Given the description of an element on the screen output the (x, y) to click on. 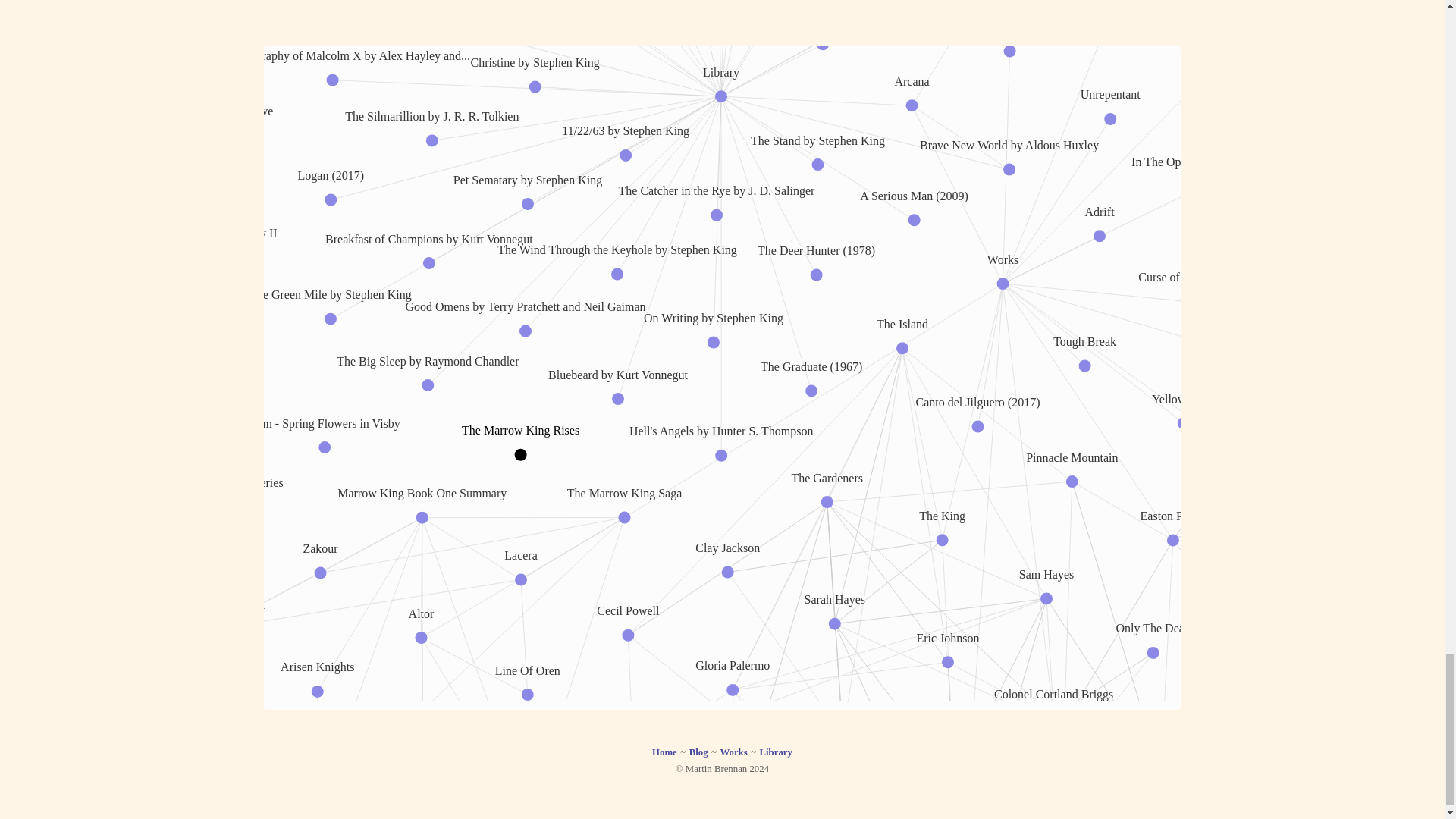
Works (733, 752)
Blog (697, 752)
Home (664, 752)
Library (775, 752)
